Given the description of an element on the screen output the (x, y) to click on. 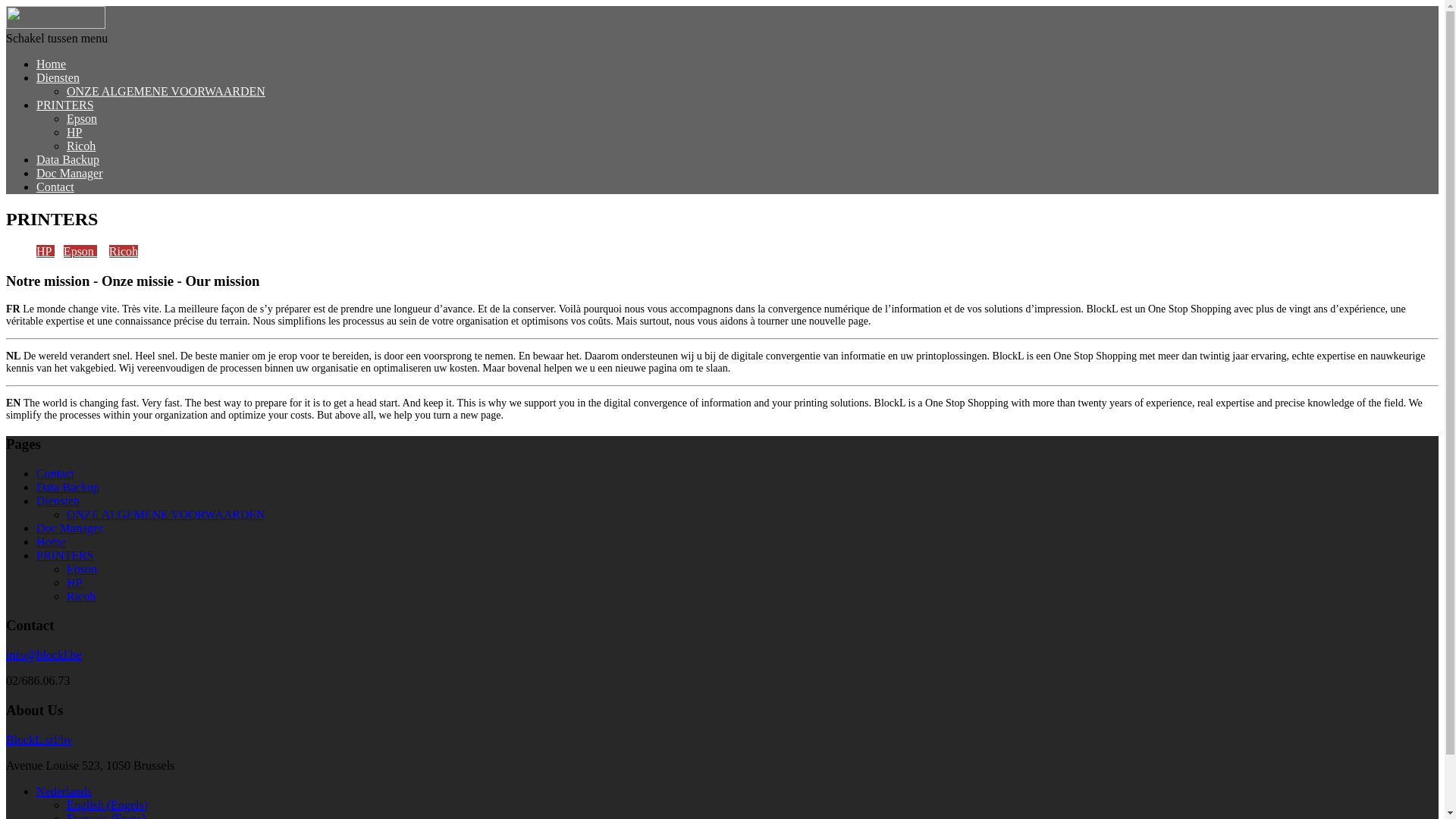
Home Element type: text (50, 63)
Data Backup Element type: text (67, 486)
Home Element type: text (50, 541)
Contact Element type: text (55, 473)
PRINTERS Element type: text (65, 104)
Doc Manager Element type: text (69, 527)
Data Backup Element type: text (67, 159)
HP  Element type: text (45, 250)
Diensten Element type: text (57, 77)
HP Element type: text (73, 582)
BlockL srl/bv Element type: text (39, 739)
Epson Element type: text (81, 118)
HP Element type: text (73, 131)
Ricoh Element type: text (80, 595)
Epson Element type: text (81, 568)
ONZE ALGEMENE VOORWAARDEN Element type: text (165, 514)
English (Engels) Element type: text (106, 804)
PRINTERS Element type: text (65, 555)
Epson  Element type: text (80, 250)
Ricoh Element type: text (123, 250)
info@blockl.be Element type: text (43, 654)
Doc Manager Element type: text (69, 172)
Nederlands Element type: text (63, 790)
Contact Element type: text (55, 186)
Diensten Element type: text (57, 500)
ONZE ALGEMENE VOORWAARDEN Element type: text (165, 90)
Ricoh Element type: text (80, 145)
